Given the description of an element on the screen output the (x, y) to click on. 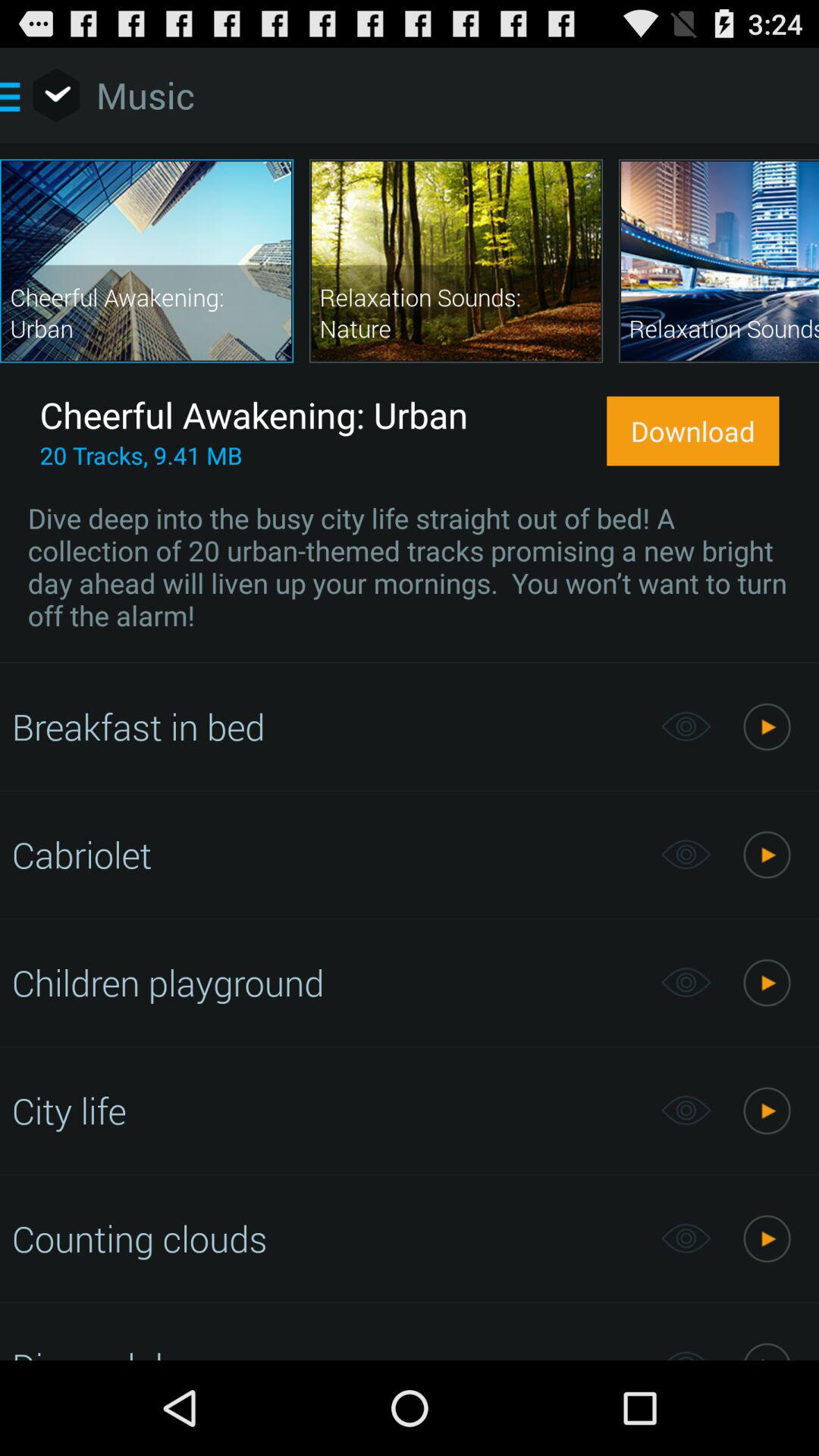
scroll to the children playground app (327, 982)
